Given the description of an element on the screen output the (x, y) to click on. 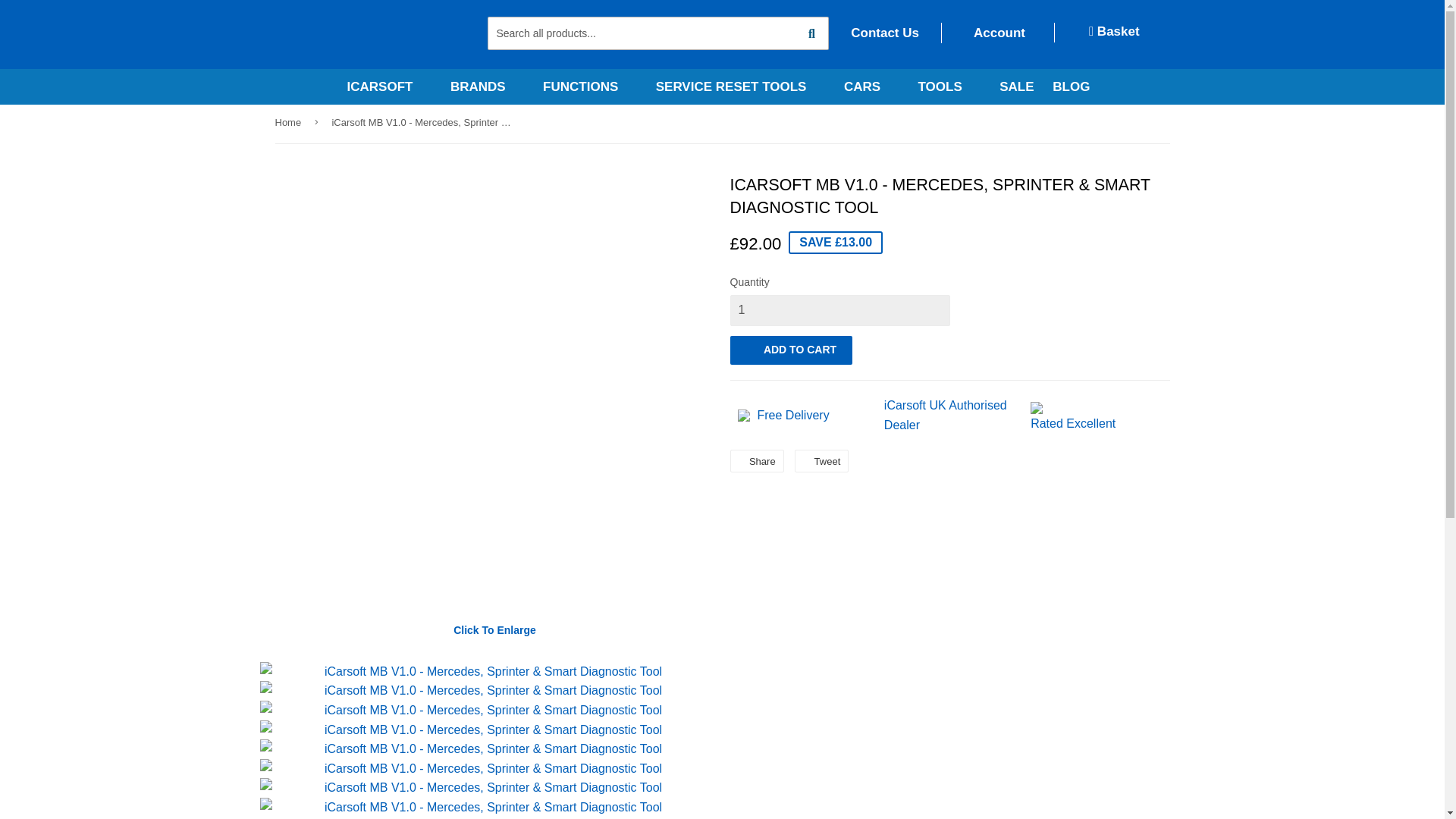
Basket (1114, 31)
Share on Facebook (756, 460)
Back to the frontpage (290, 122)
1 (839, 309)
Contact Us (884, 32)
Tweet on Twitter (821, 460)
Account (998, 32)
